Given the description of an element on the screen output the (x, y) to click on. 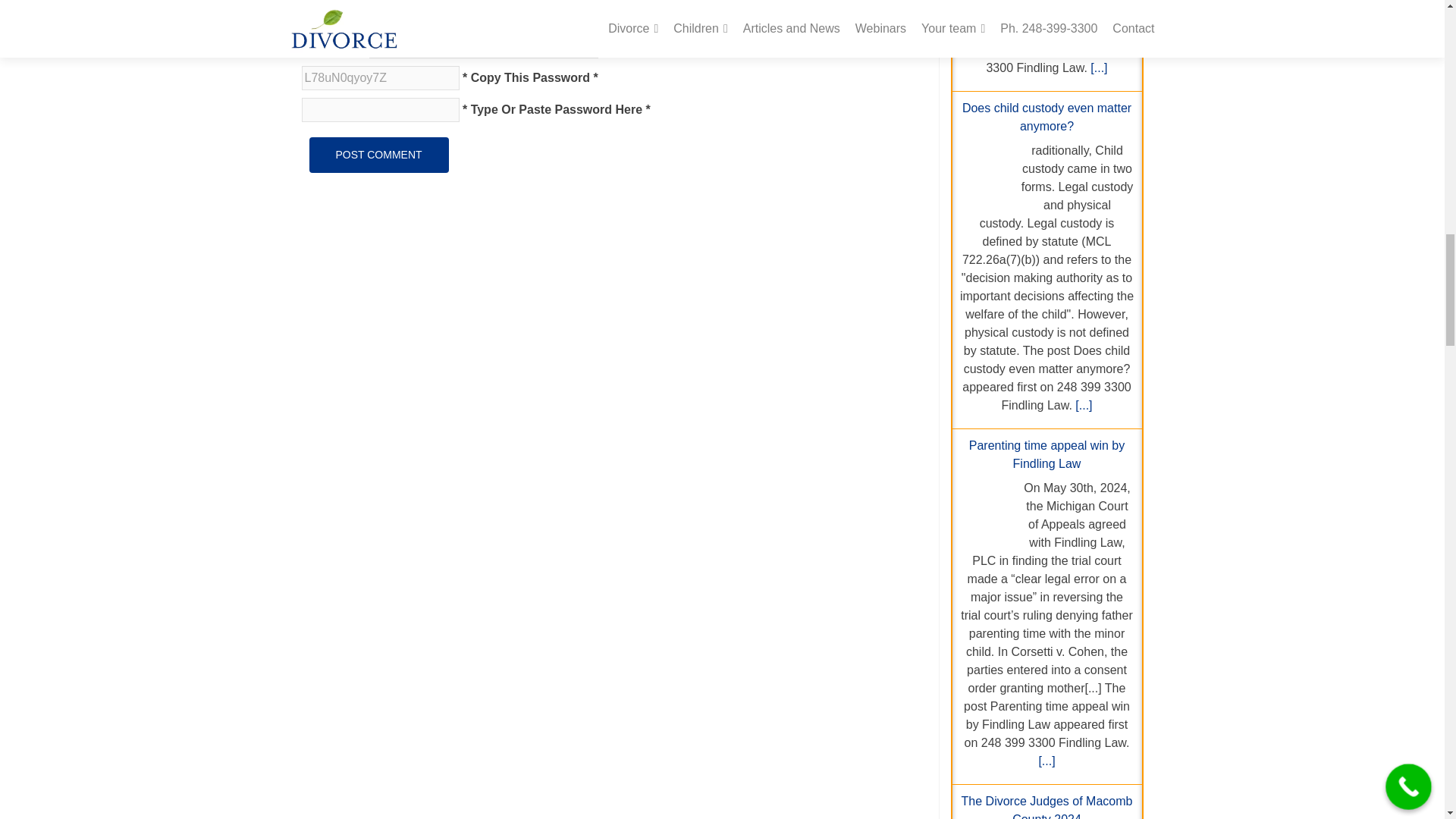
Post Comment (378, 154)
L78uN0qyoy7Z (380, 78)
